Given the description of an element on the screen output the (x, y) to click on. 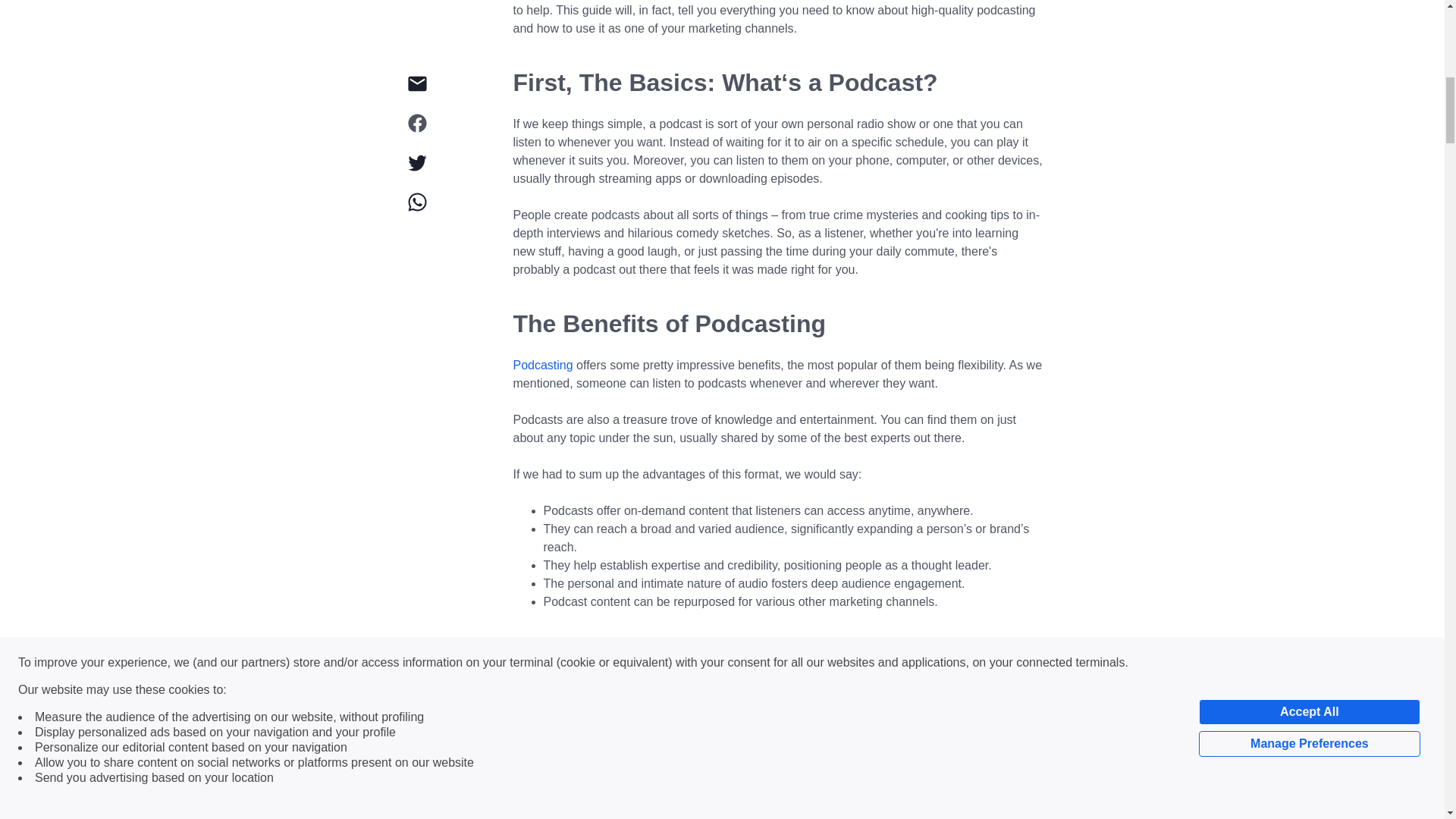
Podcasting (542, 364)
